Given the description of an element on the screen output the (x, y) to click on. 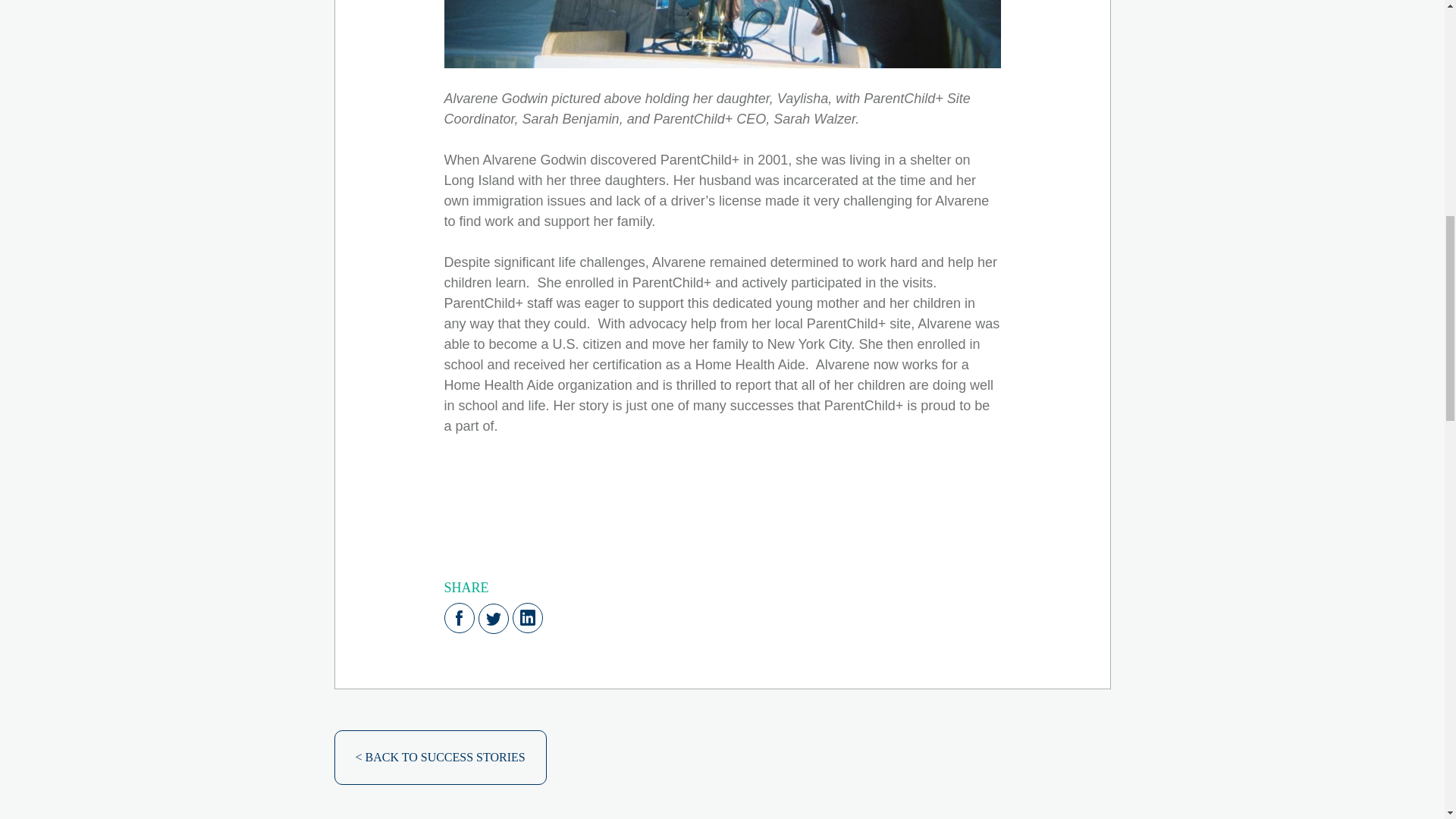
Share on Facebook (459, 617)
